Given the description of an element on the screen output the (x, y) to click on. 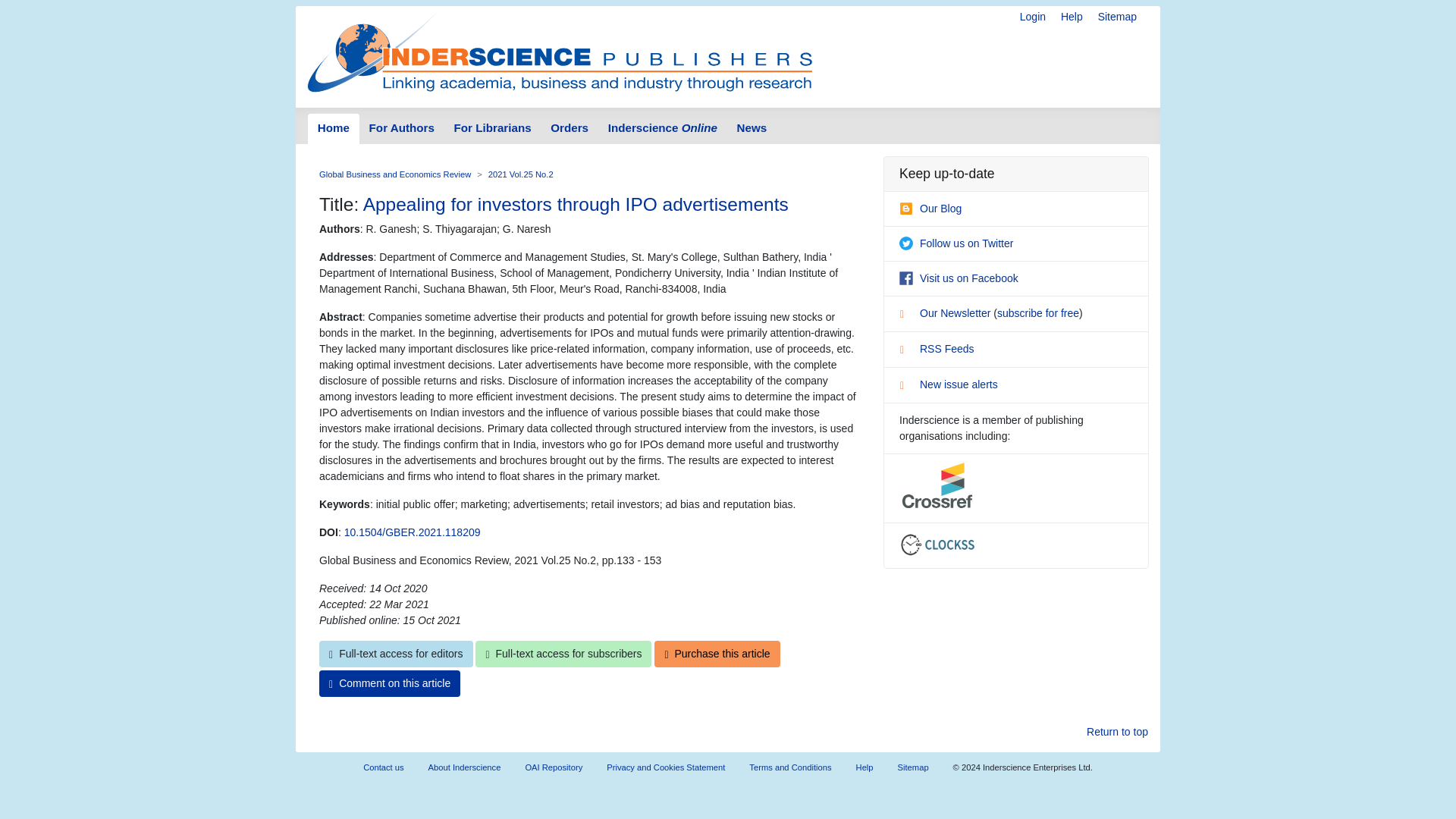
Inderscience Publishers - return to the homepage (559, 50)
For Authors (401, 128)
Orders (568, 128)
Our Blog (929, 208)
Inderscience Online (662, 128)
News (751, 128)
New issue alerts (948, 384)
Appealing for investors through IPO advertisements (575, 204)
flag (906, 386)
Home (333, 128)
list (906, 315)
Return to the top of the page (1117, 731)
Help (1072, 16)
Login (1032, 16)
Comment on this article (389, 683)
